Given the description of an element on the screen output the (x, y) to click on. 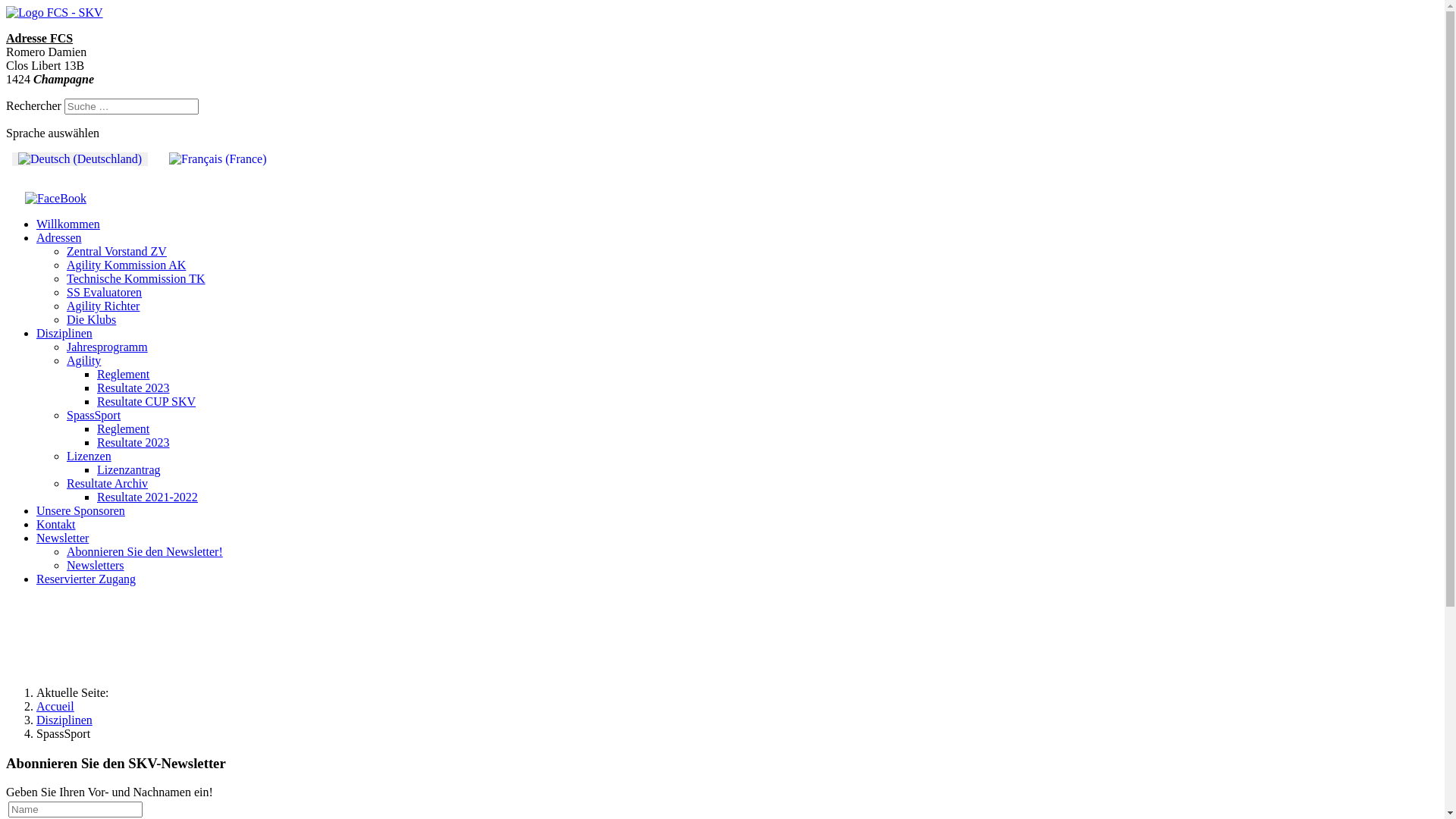
SpassSport Element type: text (93, 414)
suivez-nous sur FB Element type: hover (55, 204)
Willkommen Element type: text (68, 223)
Resultate CUP SKV Element type: text (146, 401)
Agility Richter Element type: text (102, 305)
Deutsch (Deutschland) Element type: hover (79, 159)
Die Klubs Element type: text (91, 319)
Lizenzen Element type: text (88, 455)
Unsere Sponsoren Element type: text (80, 510)
Resultate 2023 Element type: text (133, 442)
Resultate 2023 Element type: text (133, 387)
Kontakt Element type: text (55, 523)
Abonnieren Sie den Newsletter! Element type: text (144, 551)
Disziplinen Element type: text (64, 332)
Lizenzantrag Element type: text (128, 469)
Reservierter Zugang Element type: text (85, 578)
Accueil Element type: text (55, 705)
Adressen Element type: text (58, 237)
Resultate 2021-2022 Element type: text (147, 496)
Jahresprogramm Element type: text (106, 346)
SS Evaluatoren Element type: text (103, 291)
Newsletter Element type: text (62, 537)
Newsletters Element type: text (95, 564)
Reglement Element type: text (123, 428)
Disziplinen Element type: text (64, 719)
FaceBook Element type: hover (55, 198)
Reglement Element type: text (123, 373)
Technische Kommission TK Element type: text (135, 278)
Agility Kommission AK Element type: text (125, 264)
Resultate Archiv Element type: text (106, 482)
Agility Element type: text (83, 360)
Zentral Vorstand ZV Element type: text (116, 250)
